Given the description of an element on the screen output the (x, y) to click on. 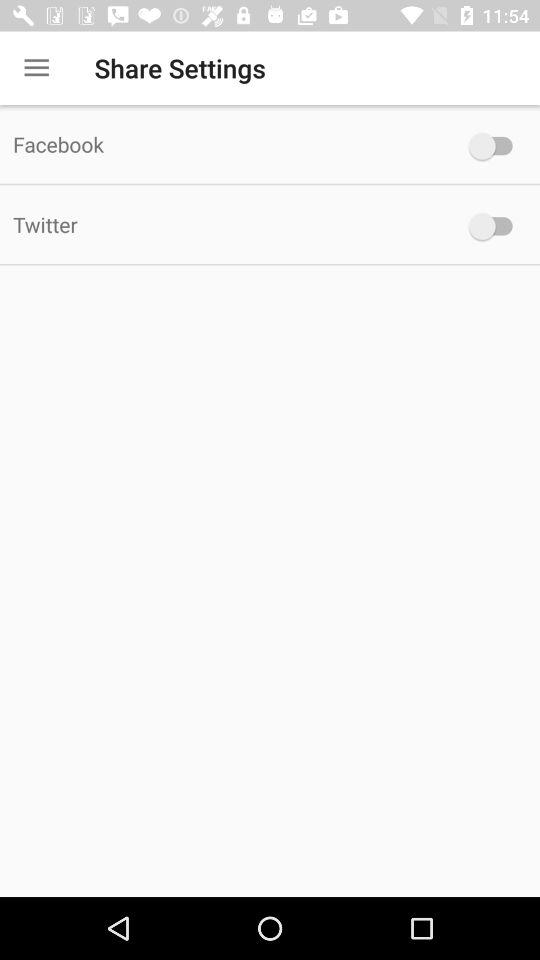
share to facebook setting (495, 146)
